Given the description of an element on the screen output the (x, y) to click on. 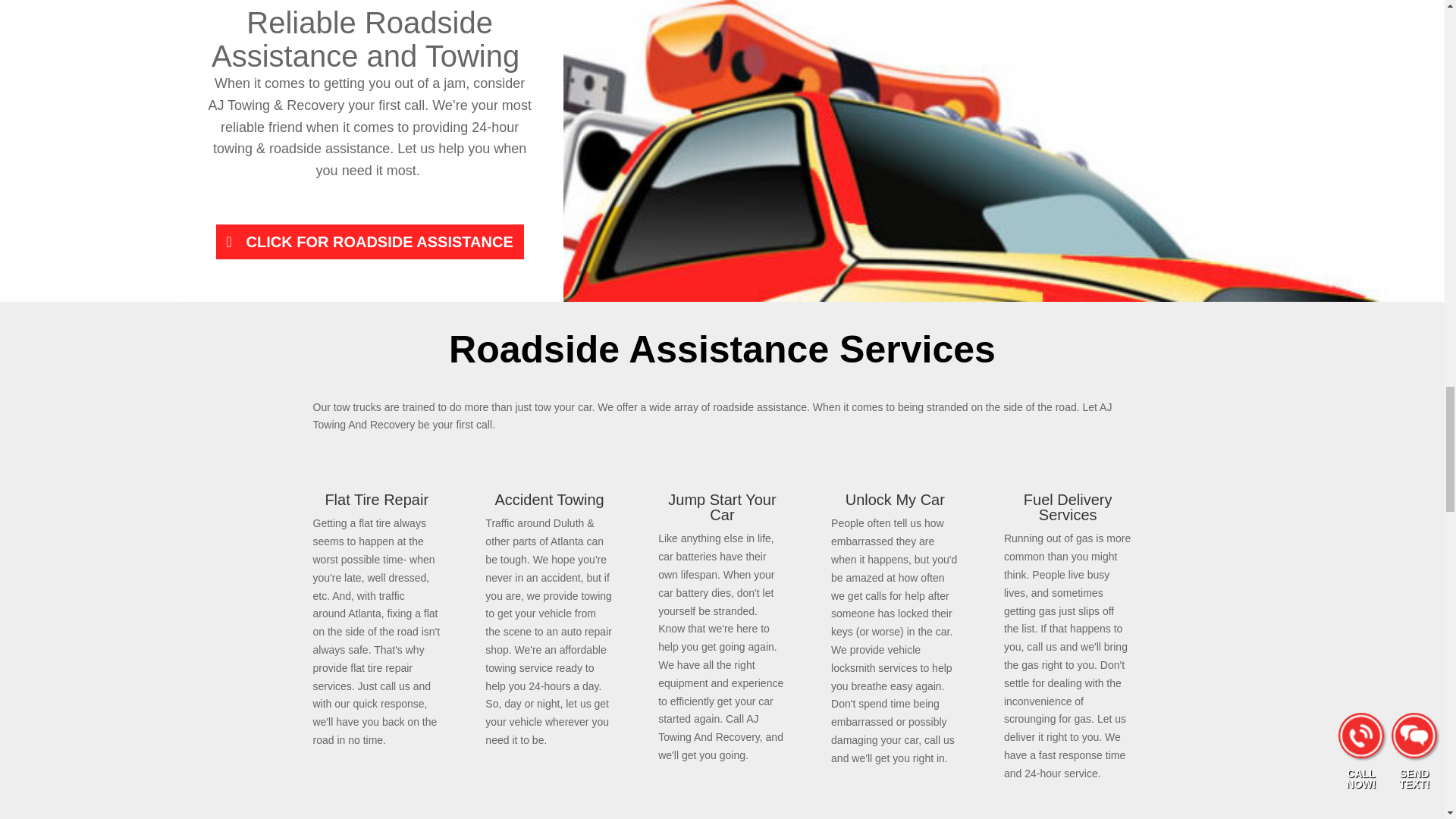
CLICK FOR ROADSIDE ASSISTANCE (369, 241)
